Given the description of an element on the screen output the (x, y) to click on. 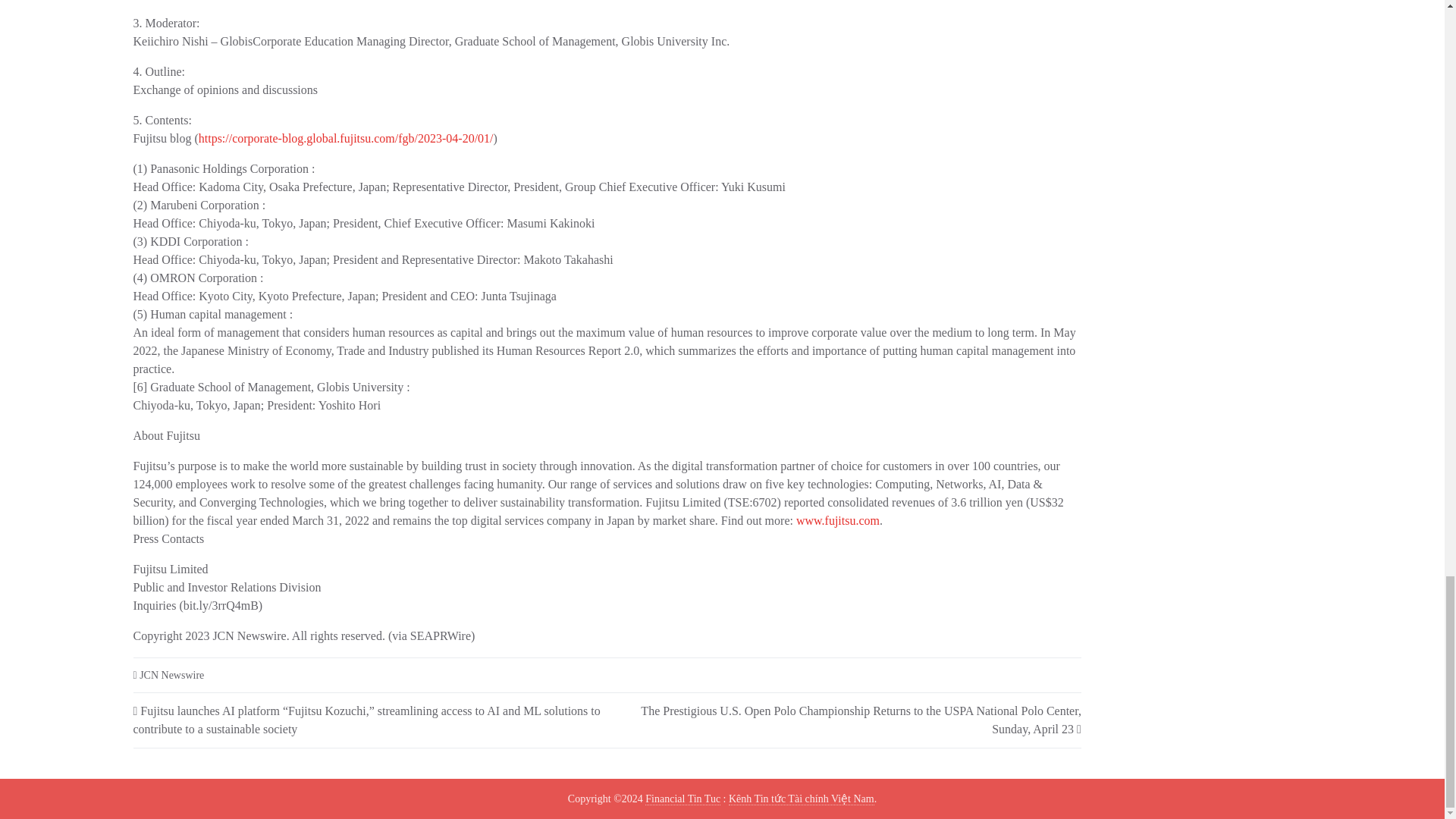
www.fujitsu.com (837, 520)
JCN Newswire (171, 674)
